Given the description of an element on the screen output the (x, y) to click on. 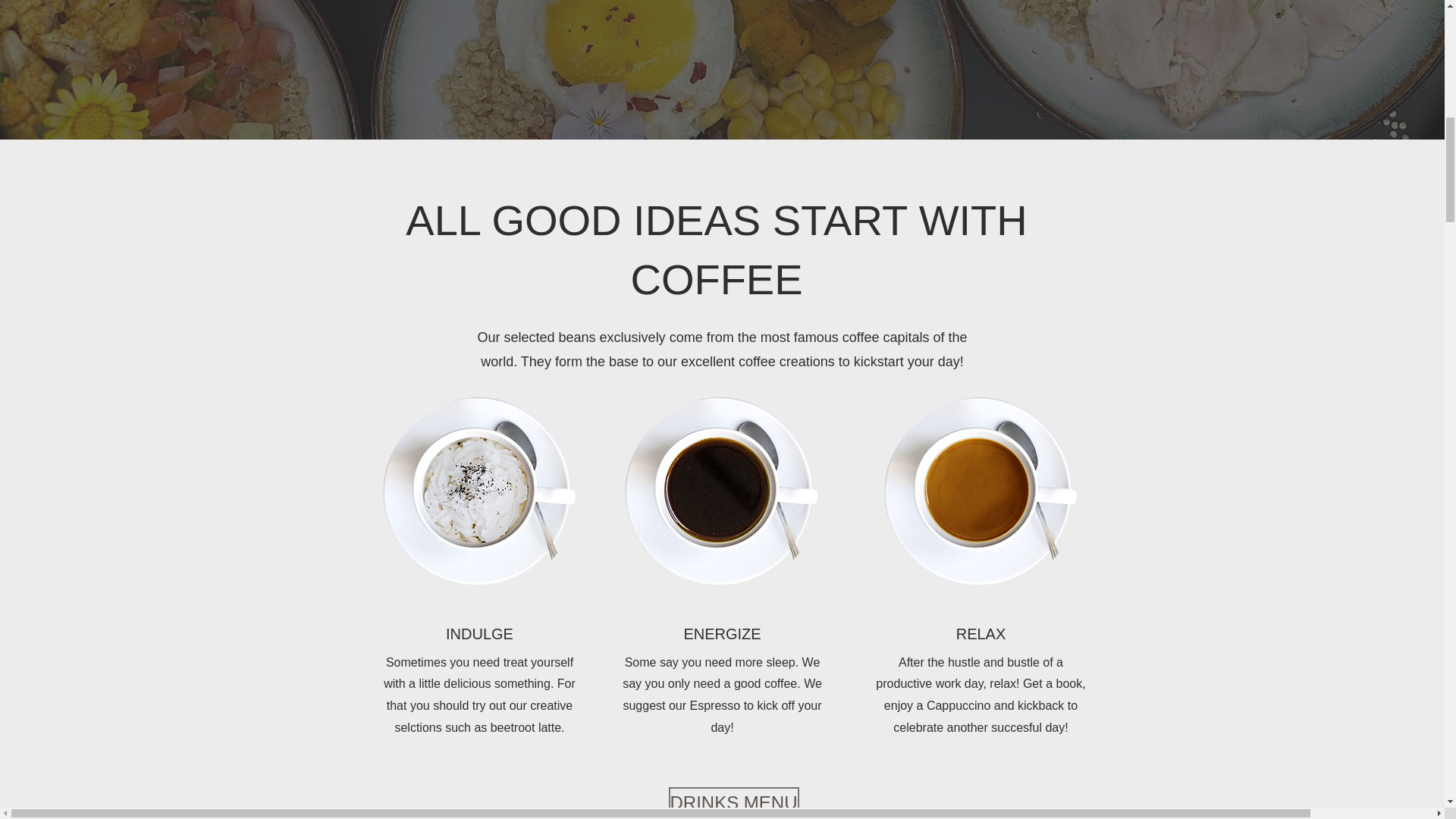
DRINKS MENU (733, 803)
